Given the description of an element on the screen output the (x, y) to click on. 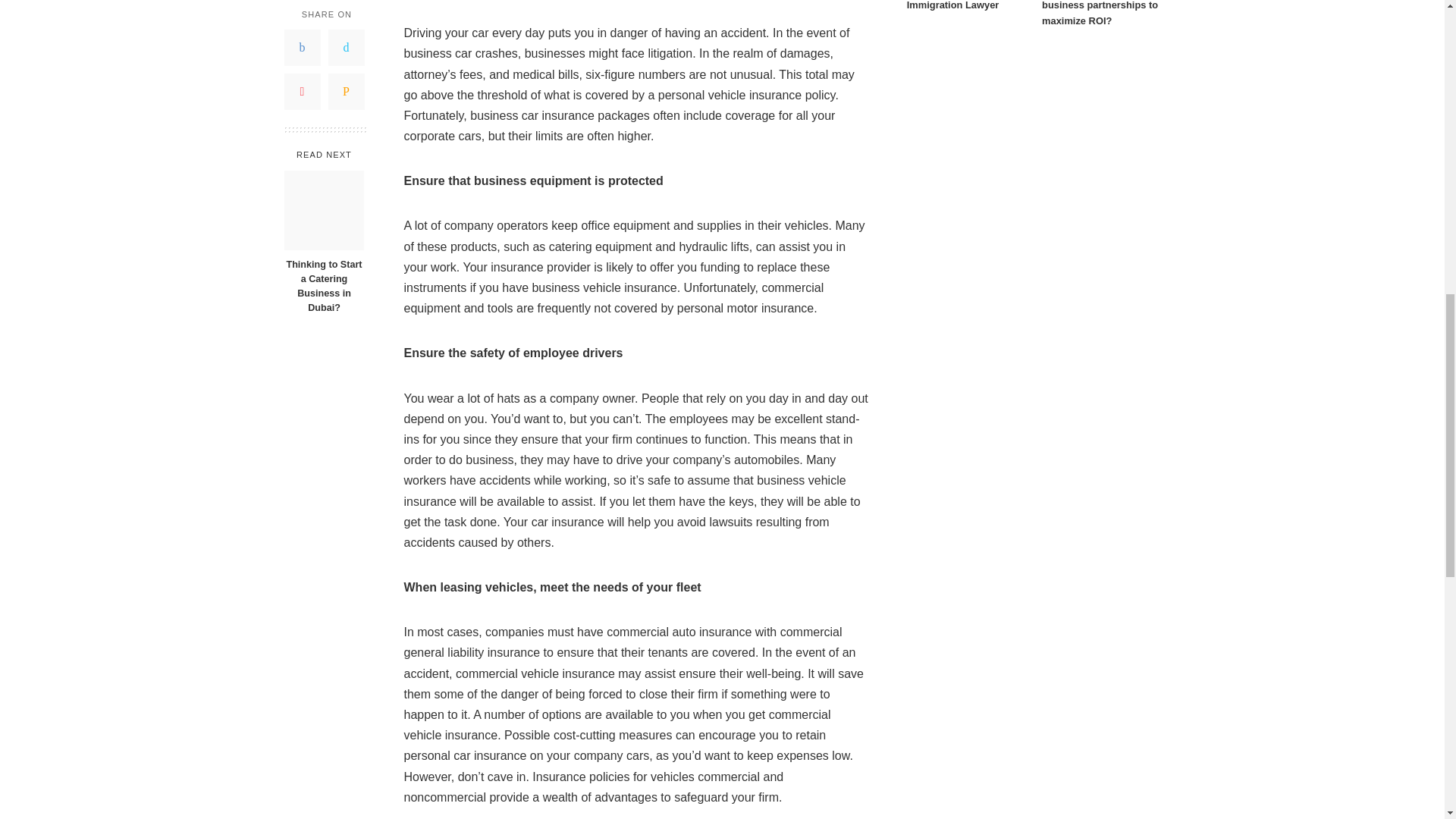
Thinking to Start a Catering Business in Dubai? (323, 129)
Thinking to Start a Catering Business in Dubai? (323, 53)
Thinking to Start a Catering Business in Dubai? (323, 129)
